Given the description of an element on the screen output the (x, y) to click on. 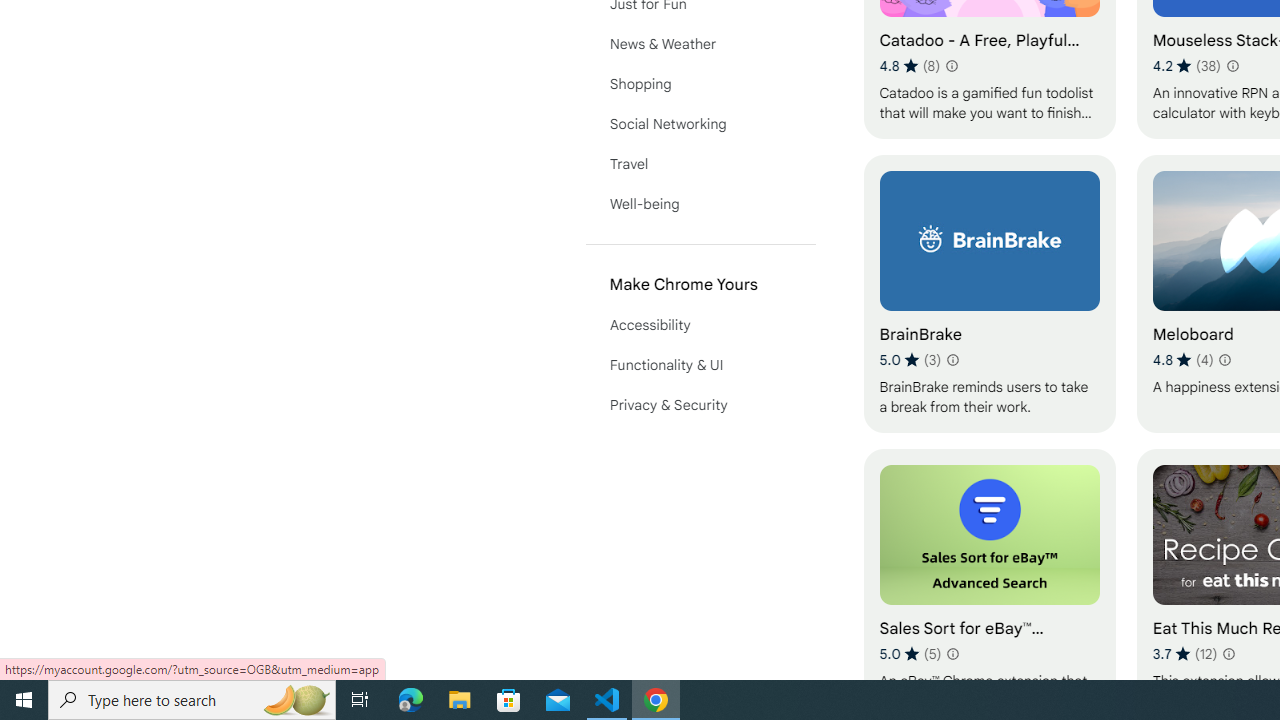
BrainBrake (989, 293)
Average rating 5 out of 5 stars. 5 ratings. (910, 653)
Travel (700, 164)
Learn more about results and reviews "BrainBrake" (951, 359)
